Given the description of an element on the screen output the (x, y) to click on. 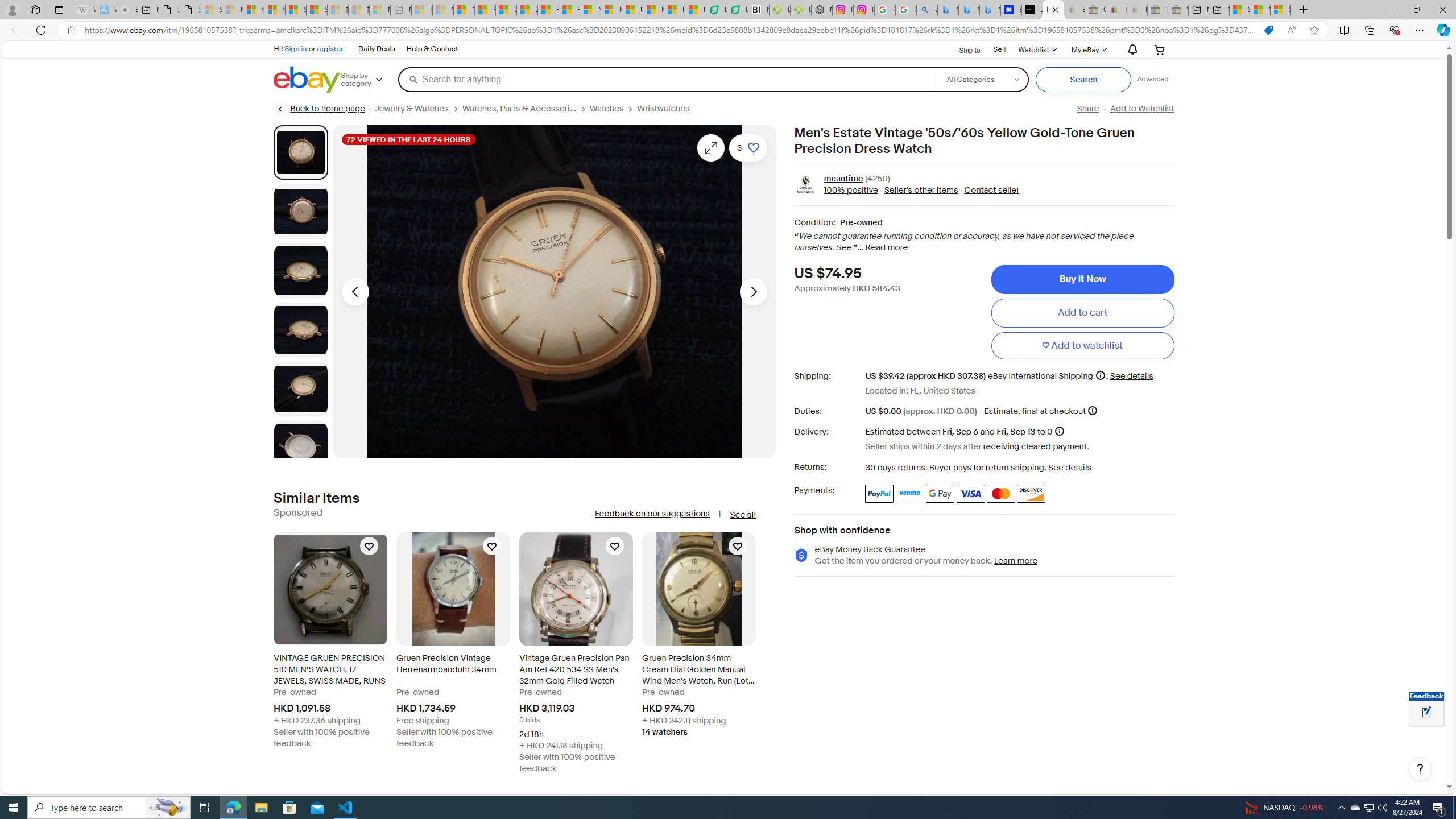
Watchlist (1036, 49)
Descarga Driver Updater (800, 9)
register (329, 48)
eBay Home (306, 79)
See details for shipping (1131, 375)
Venmo (909, 493)
eBay Home (306, 79)
Picture 3 of 8 (300, 270)
Select a category for search (981, 78)
